Given the description of an element on the screen output the (x, y) to click on. 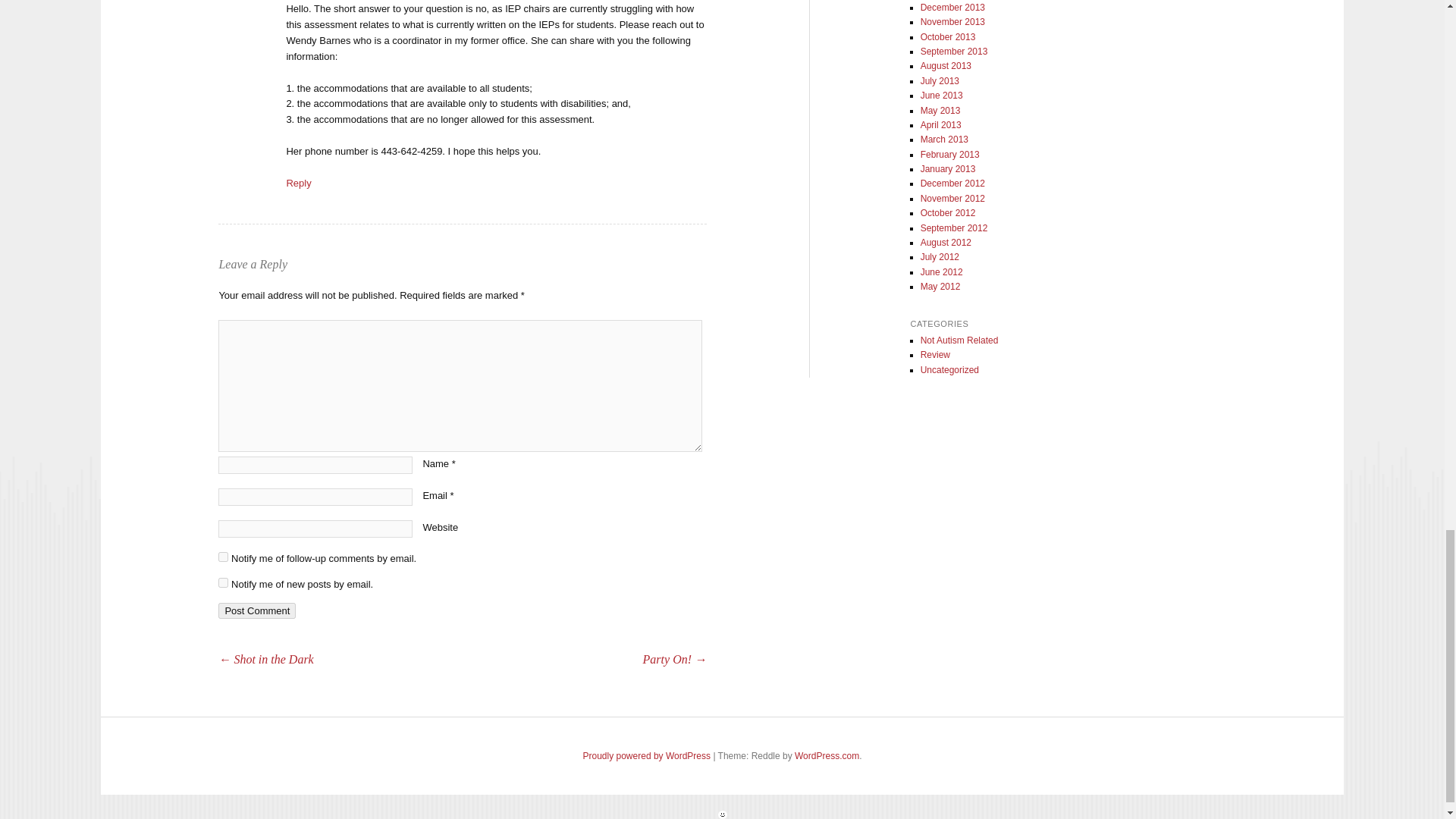
Post Comment (256, 610)
subscribe (223, 583)
Reply (298, 183)
A Semantic Personal Publishing Platform (646, 756)
subscribe (223, 556)
Post Comment (256, 610)
